Given the description of an element on the screen output the (x, y) to click on. 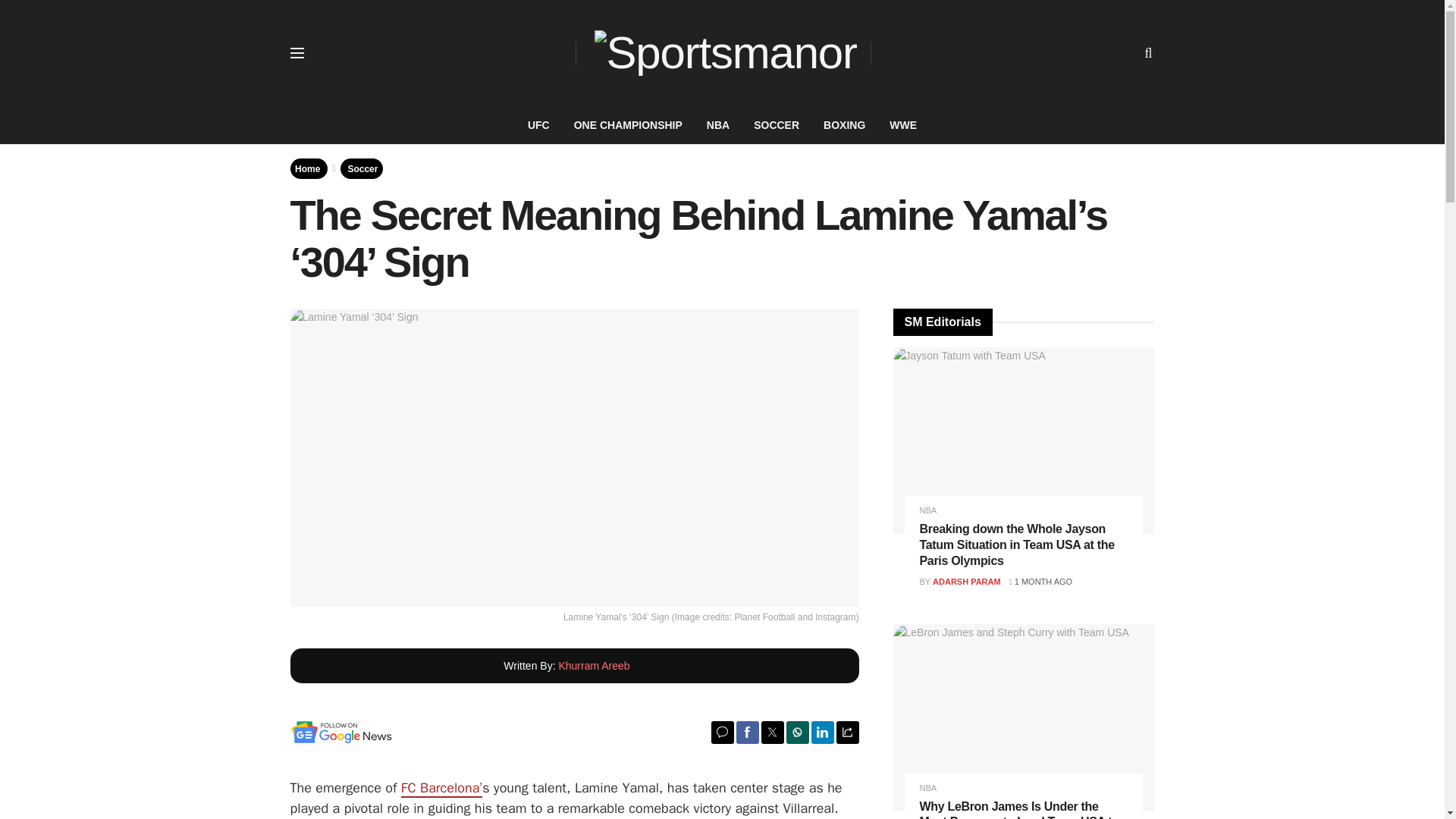
UFC (538, 125)
WWE (902, 125)
Home (307, 167)
Khurram Areeb (592, 665)
Soccer (362, 167)
NBA (717, 125)
SOCCER (775, 125)
ONE CHAMPIONSHIP (628, 125)
